Given the description of an element on the screen output the (x, y) to click on. 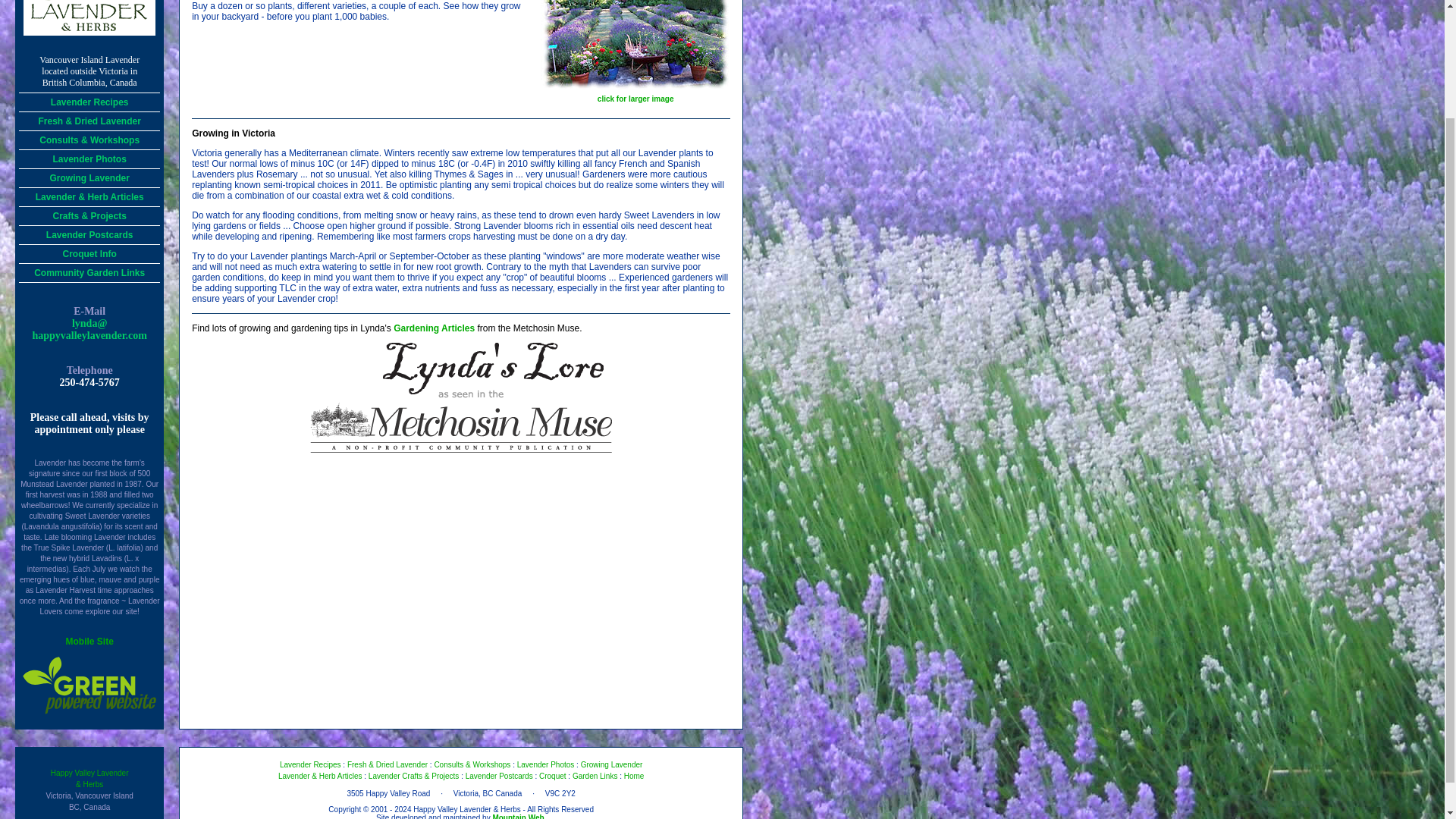
Growing Lavender (89, 177)
Gardening Articles (433, 327)
Lavender Recipes (309, 764)
Garden Links (594, 776)
click for larger image (635, 94)
Lavender Postcards (89, 234)
Community Garden Links (89, 272)
Growing Lavender (611, 764)
Lavender Photos (545, 764)
Lavender Photos (89, 158)
